Given the description of an element on the screen output the (x, y) to click on. 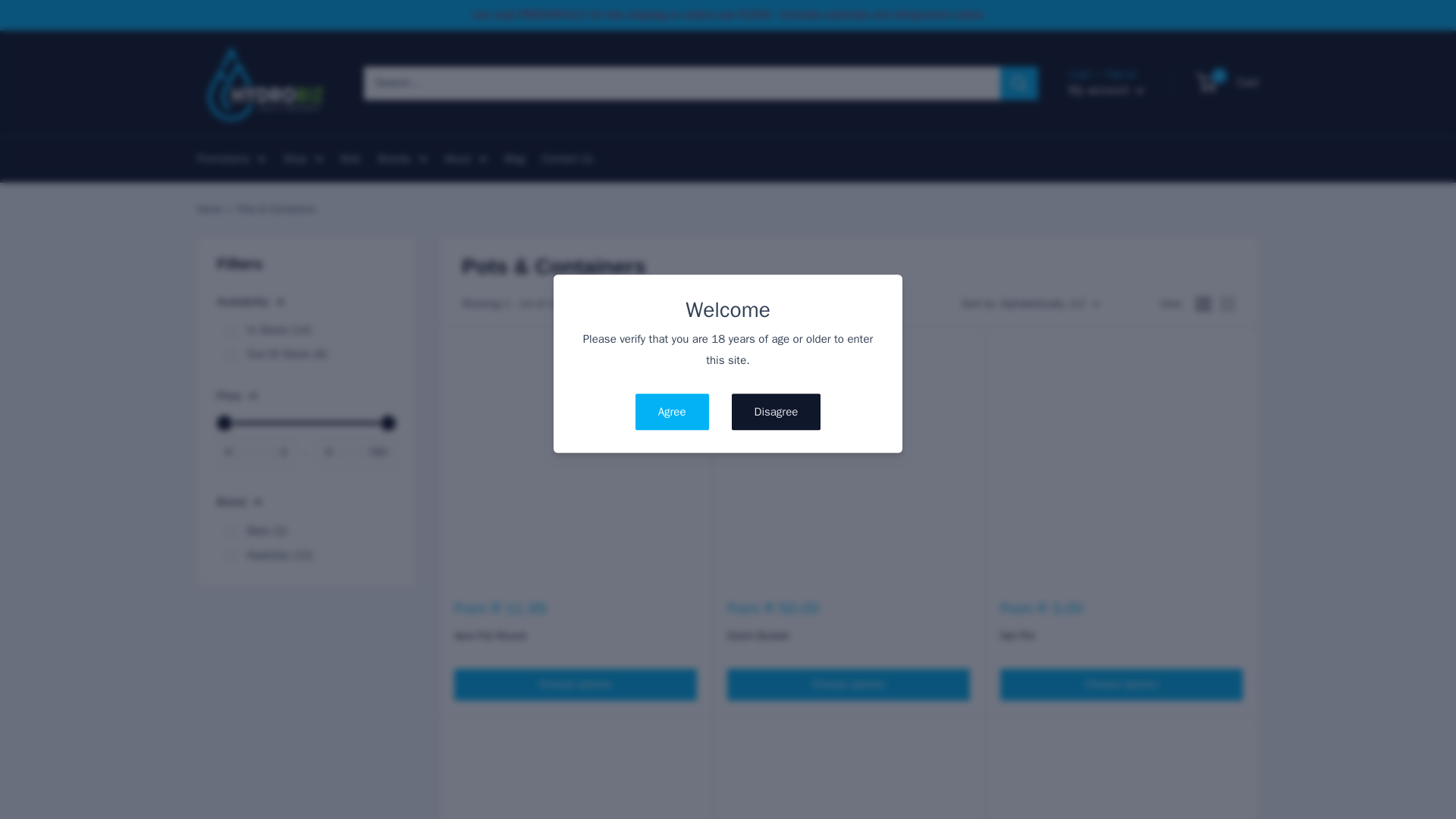
Disagree (776, 411)
Hydrobiz (229, 554)
Agree (671, 411)
0 (229, 354)
760 (306, 423)
Bato (229, 530)
0 (306, 423)
1 (229, 330)
